Given the description of an element on the screen output the (x, y) to click on. 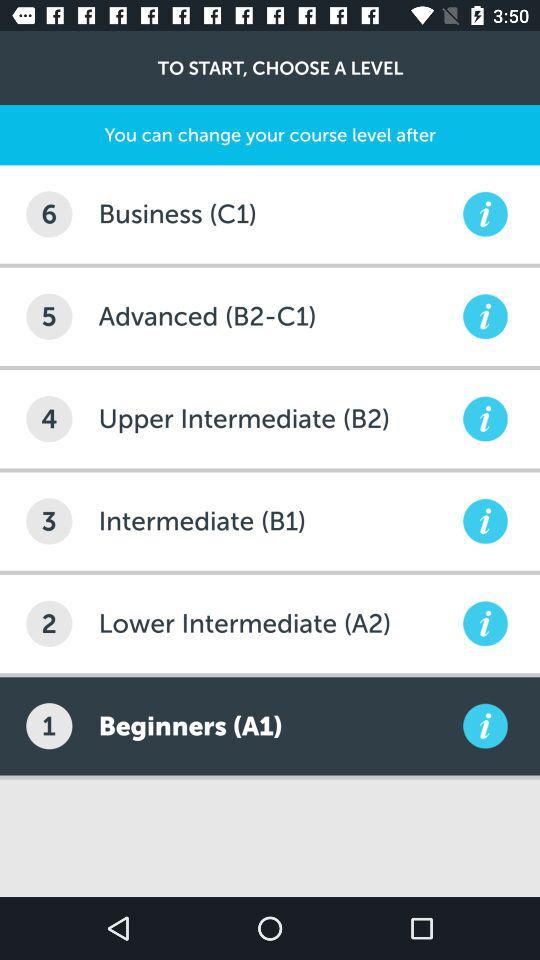
go to details (485, 726)
